Given the description of an element on the screen output the (x, y) to click on. 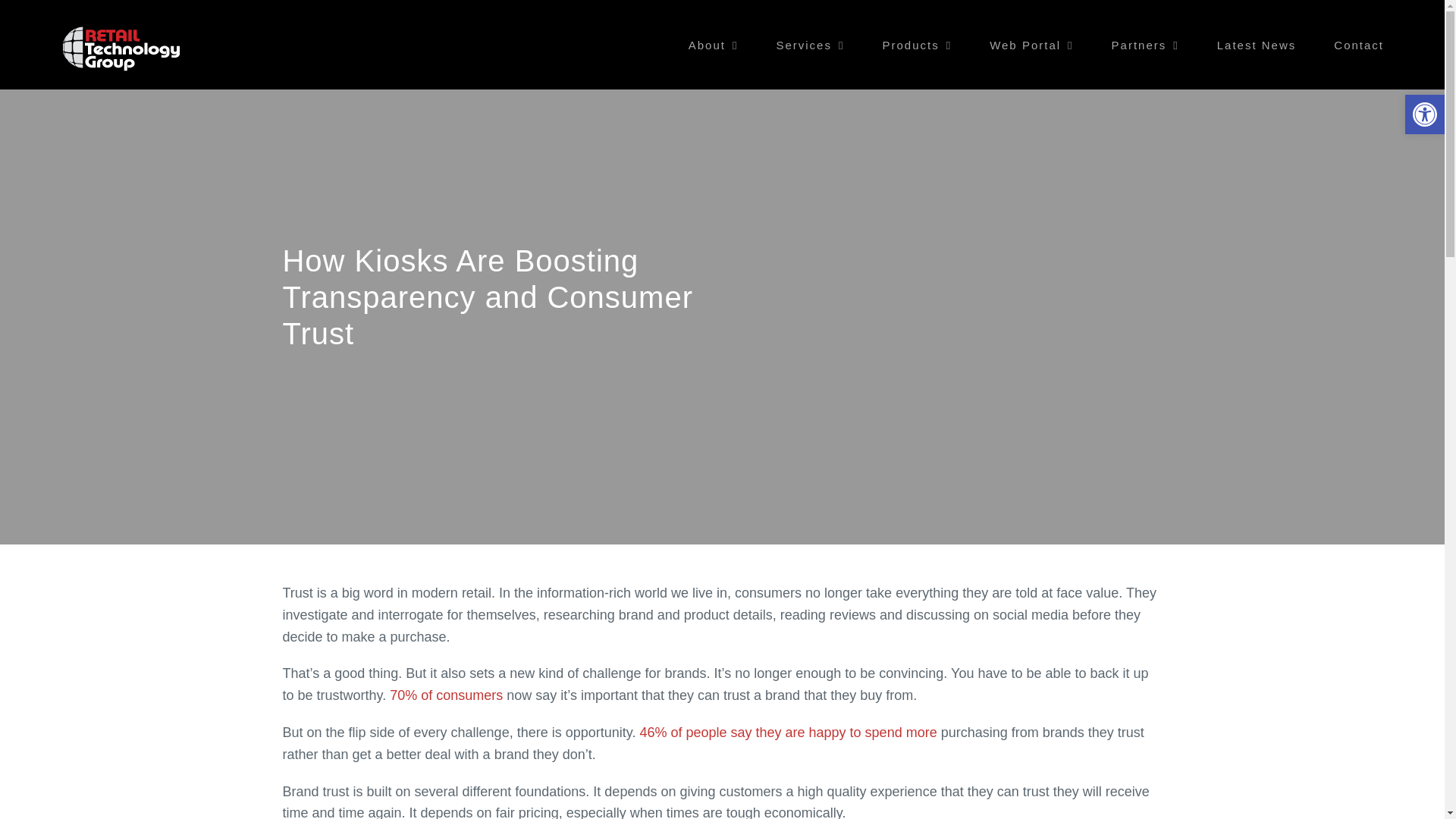
Accessibility Tools (1424, 114)
Services (810, 44)
Contact (1358, 44)
Latest News (1257, 44)
About (713, 44)
Partners (1145, 44)
Products (917, 44)
Web Portal (1031, 44)
